Given the description of an element on the screen output the (x, y) to click on. 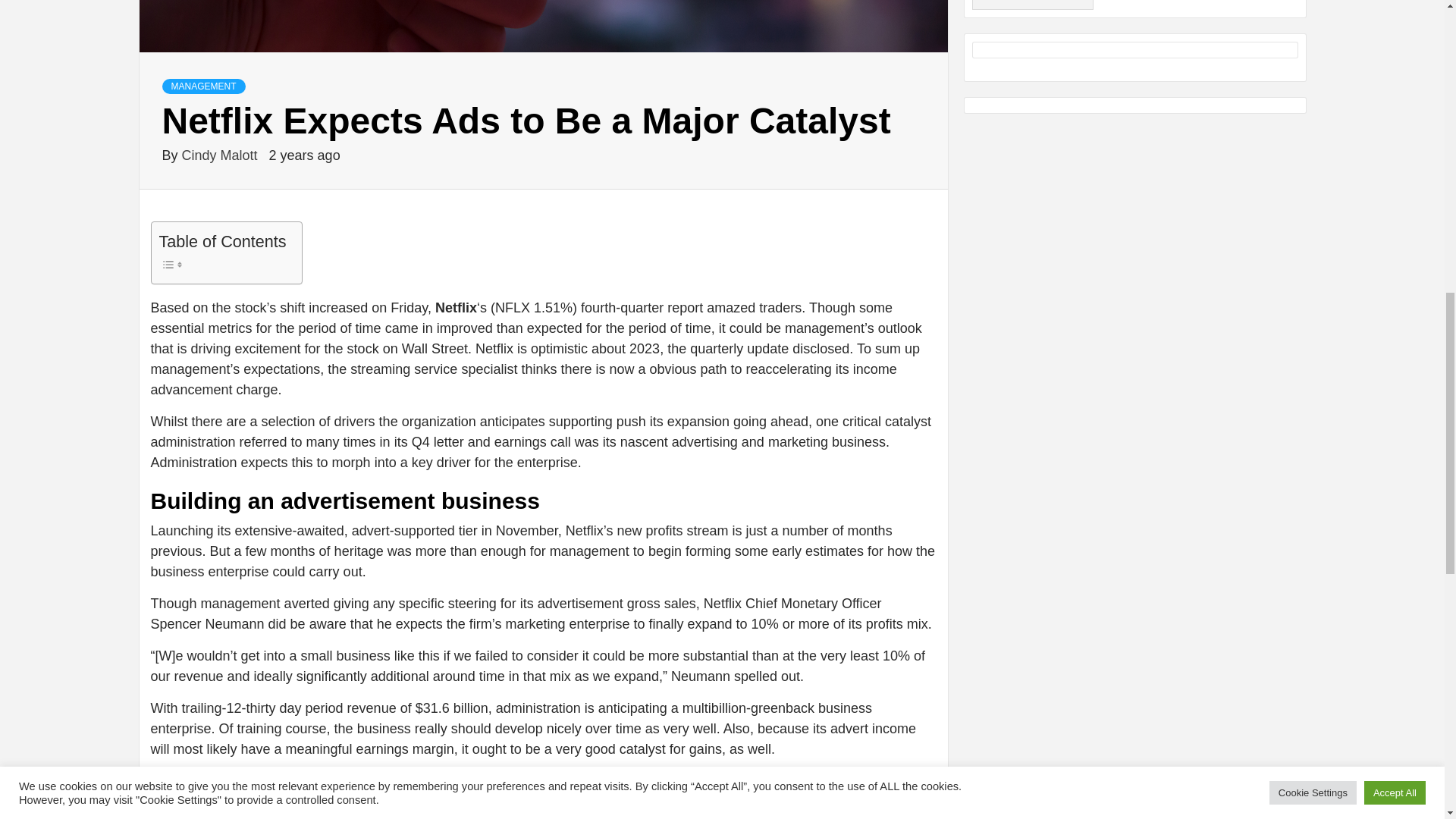
MANAGEMENT (203, 86)
Netflix Expects Ads to Be a Major Catalyst (543, 26)
Cindy Malott (222, 155)
